Given the description of an element on the screen output the (x, y) to click on. 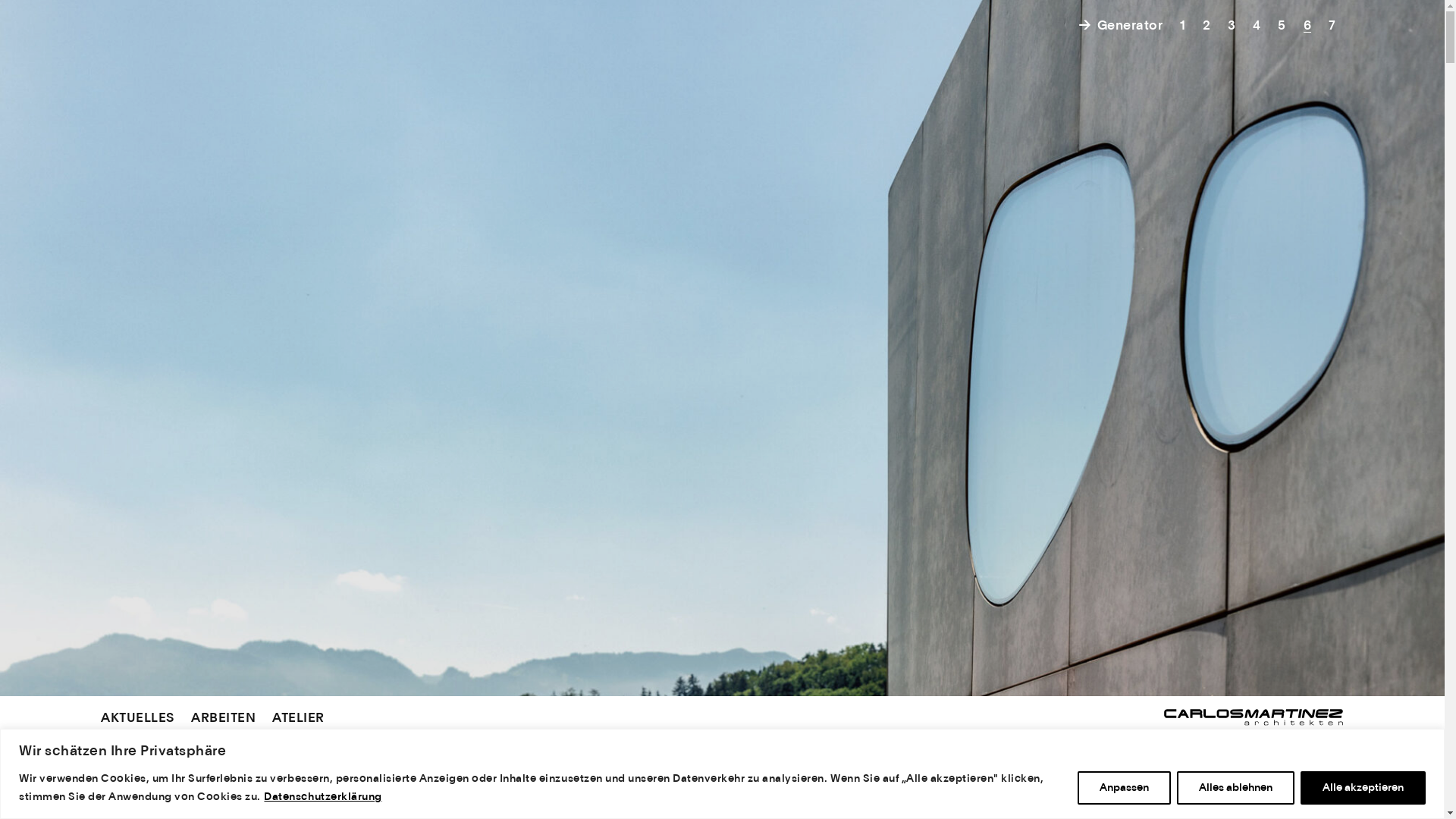
Anpassen Element type: text (1123, 786)
ARBEITEN Element type: text (223, 718)
1 Element type: text (1181, 25)
Alles ablehnen Element type: text (1235, 786)
5 Element type: text (1281, 25)
6 Element type: text (1306, 25)
Alle akzeptieren Element type: text (1362, 786)
2 Element type: text (1206, 25)
7 Element type: text (1331, 25)
4 Element type: text (1256, 25)
3 Element type: text (1231, 25)
Generator Element type: text (1118, 25)
AKTUELLES Element type: text (137, 718)
ATELIER Element type: text (298, 718)
